Given the description of an element on the screen output the (x, y) to click on. 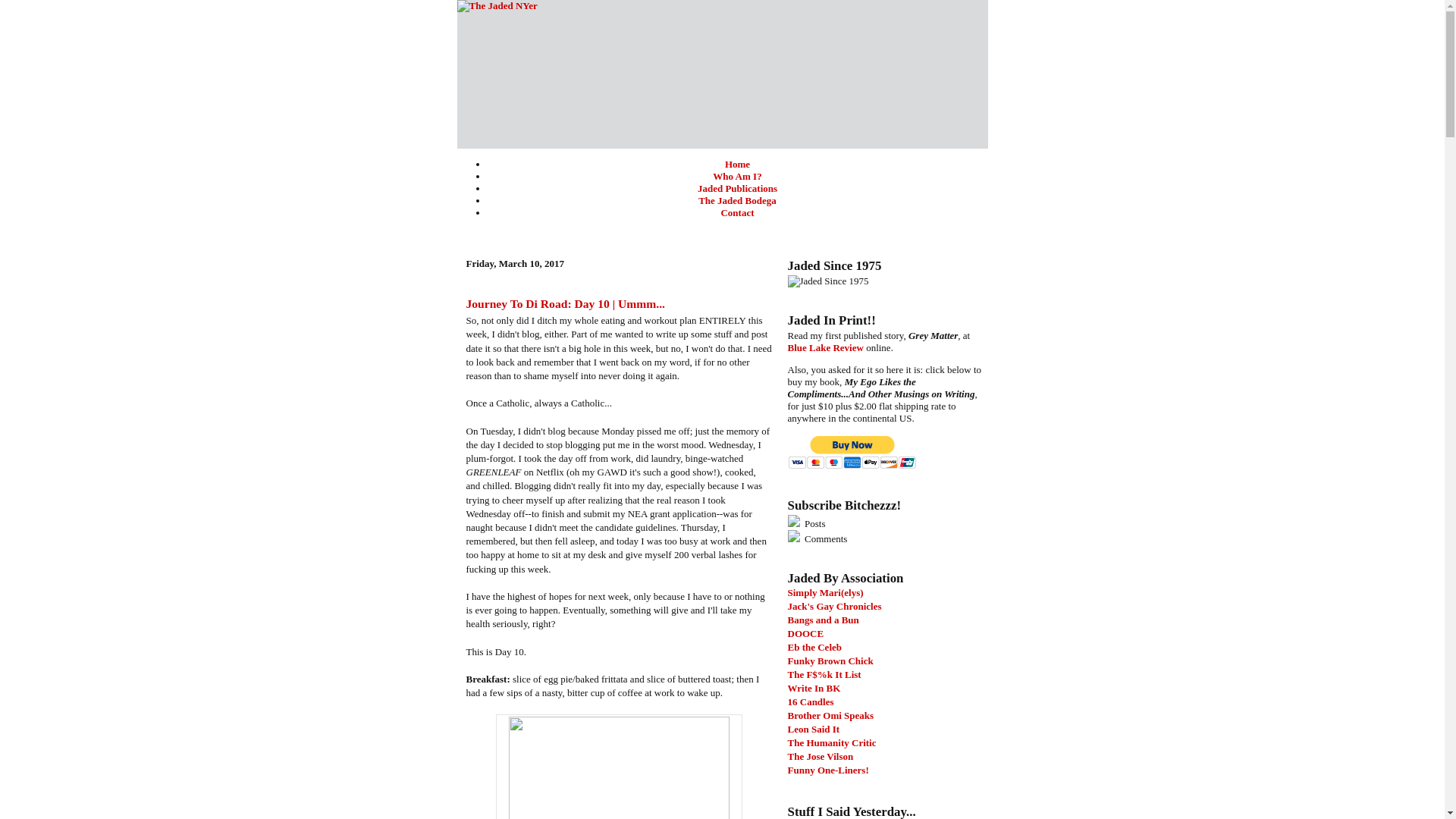
Bangs and a Bun (823, 619)
Contact (737, 212)
The Jaded Bodega (737, 200)
Home (737, 163)
Jack's Gay Chronicles (833, 605)
DOOCE (805, 633)
Who Am I? (737, 175)
Blue Lake Review (825, 347)
Jaded Publications (737, 188)
Eb the Celeb (814, 646)
